Given the description of an element on the screen output the (x, y) to click on. 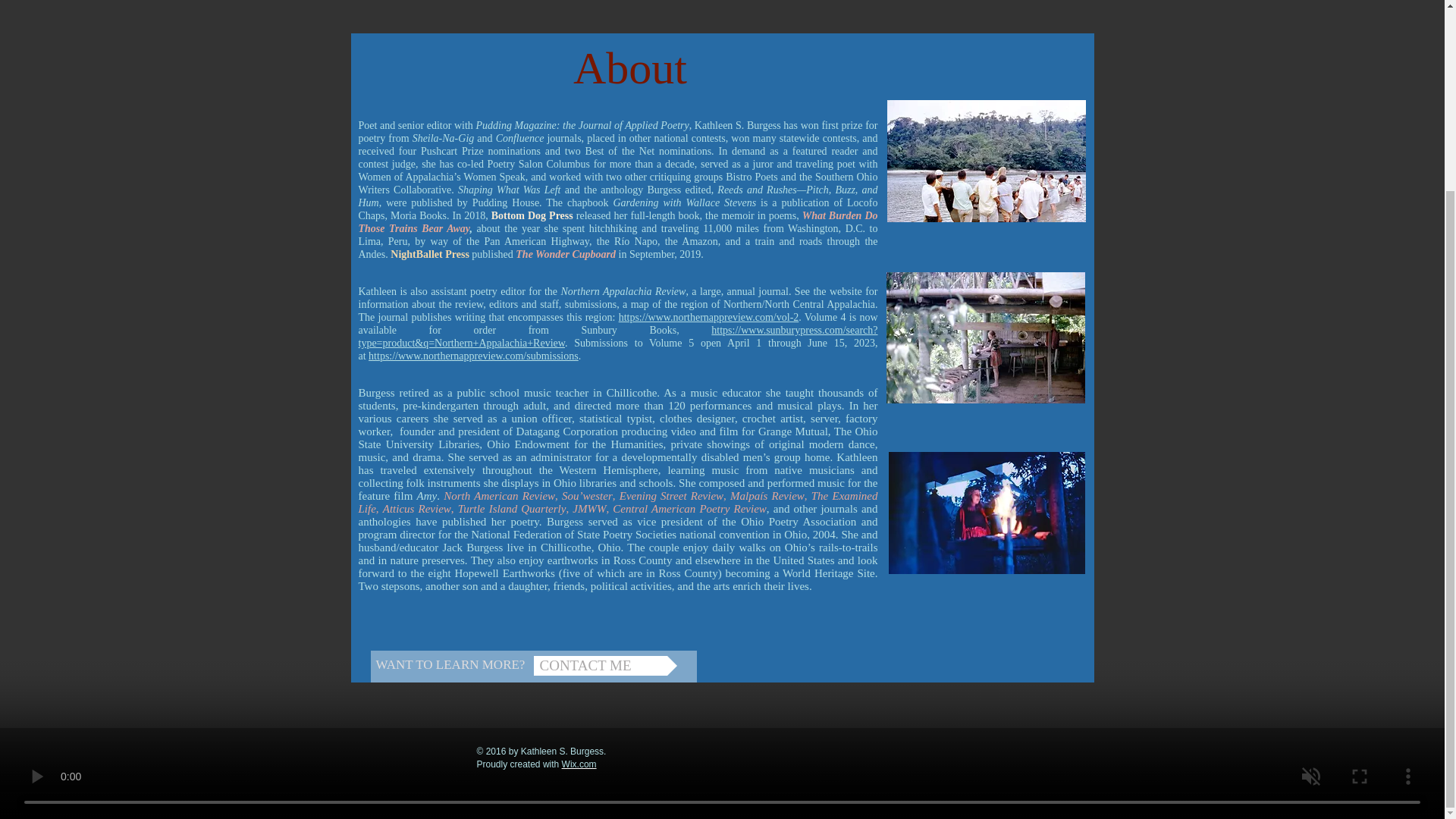
Wix.com (579, 764)
CONTACT ME (605, 665)
